Given the description of an element on the screen output the (x, y) to click on. 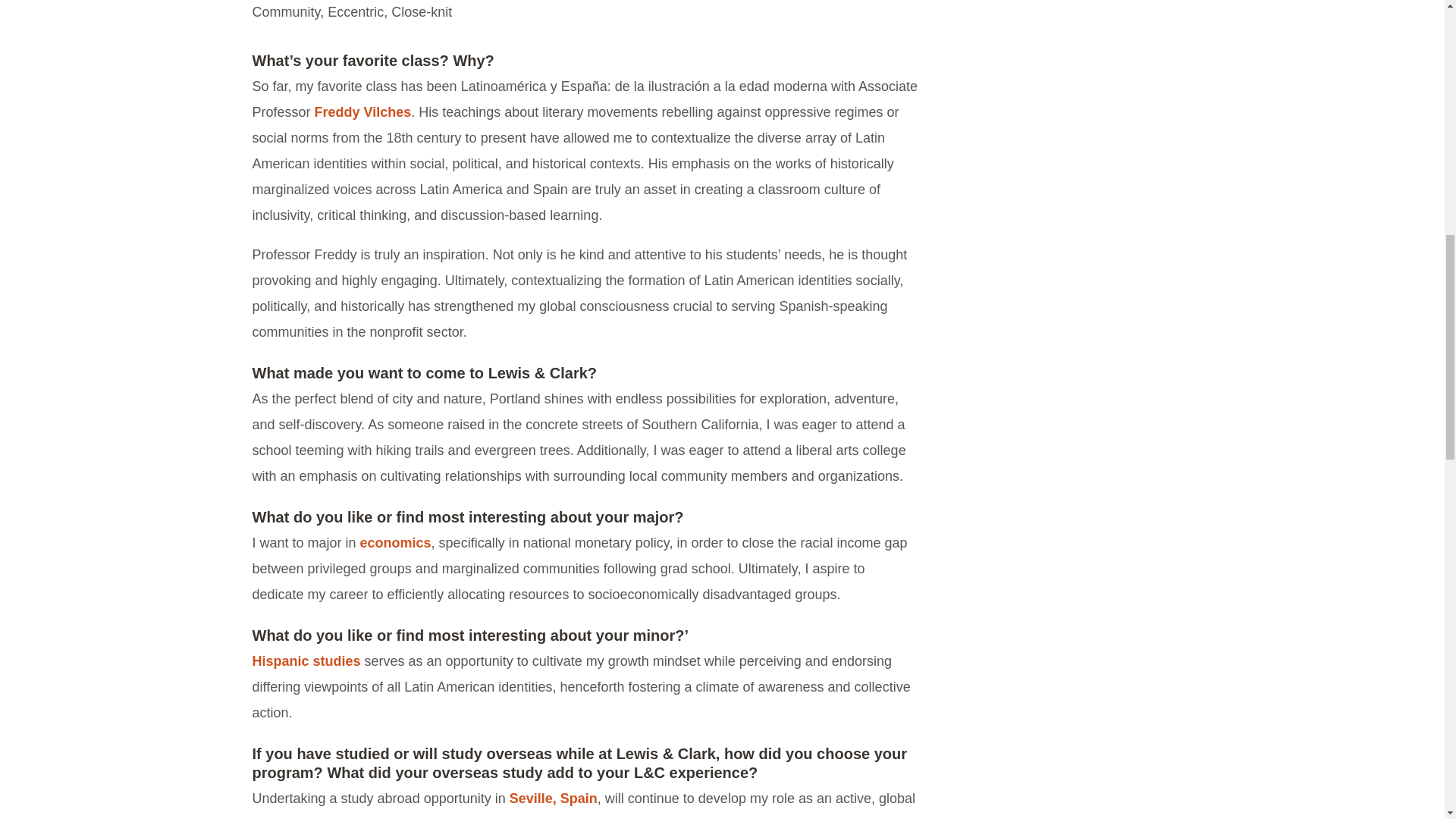
Hispanic studies (305, 661)
Freddy Vilches (363, 111)
Seville, Spain (552, 798)
economics (394, 542)
